Given the description of an element on the screen output the (x, y) to click on. 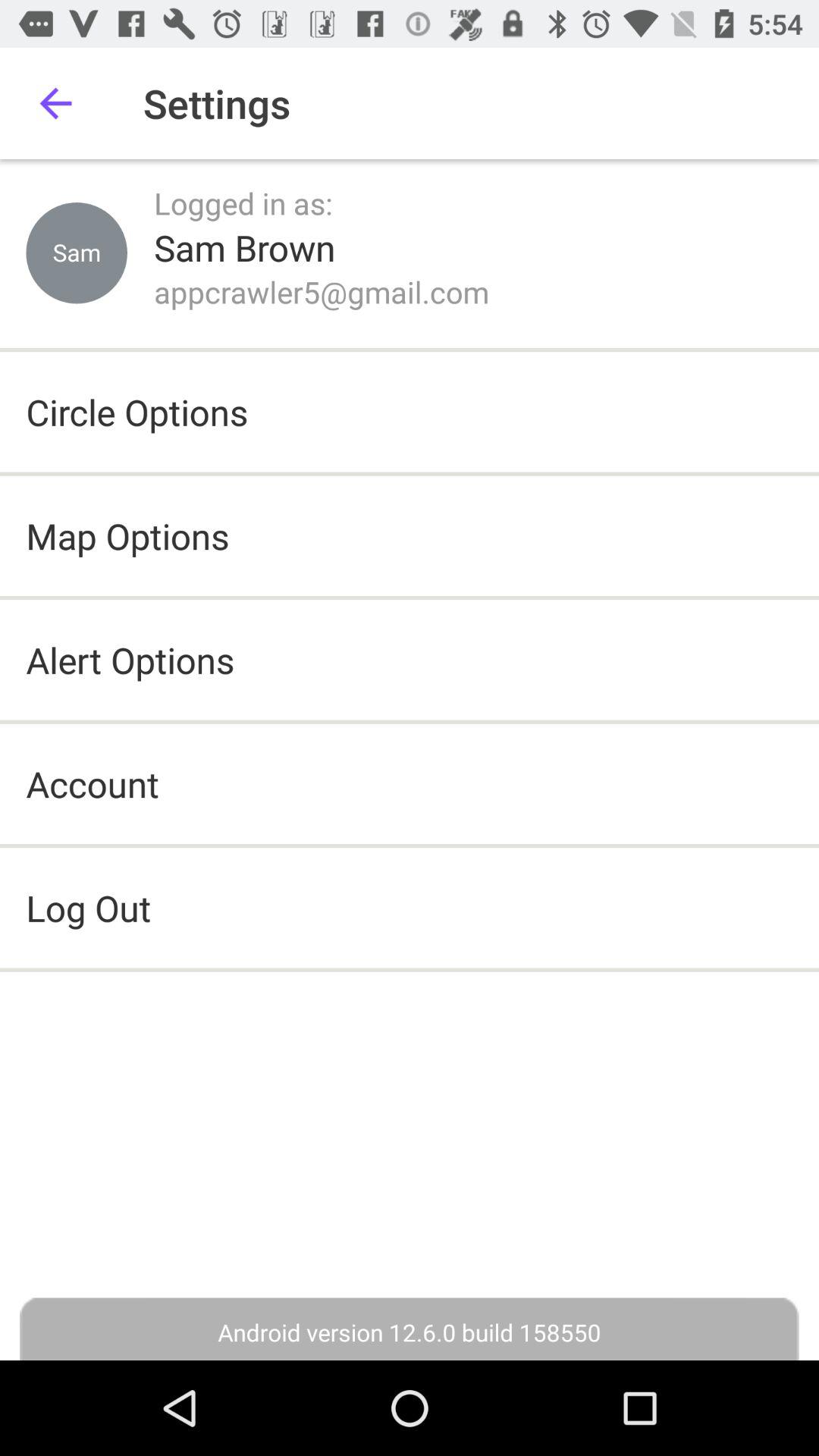
flip until appcrawler5@gmail.com item (321, 291)
